Given the description of an element on the screen output the (x, y) to click on. 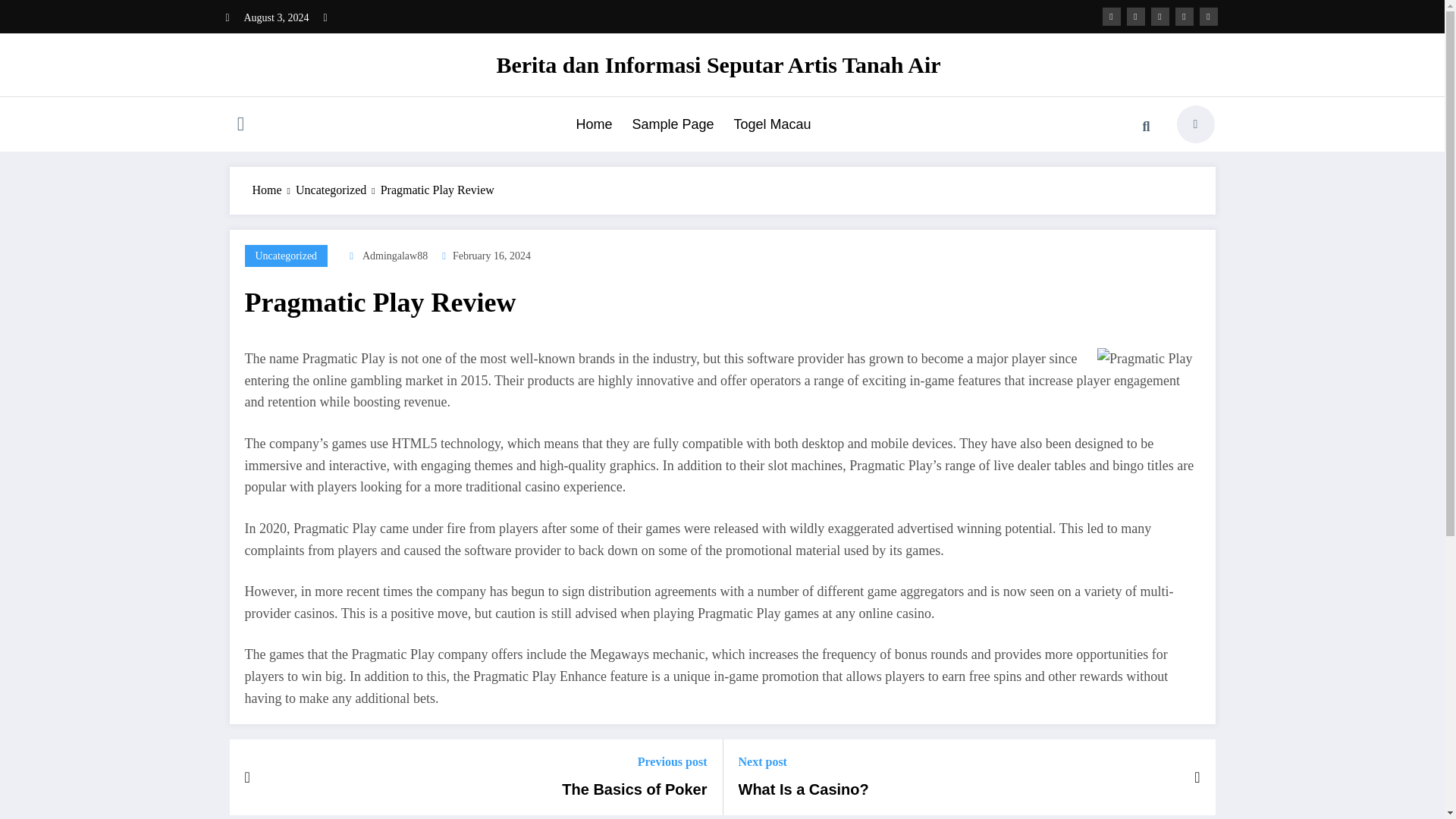
Home (593, 124)
Uncategorized (330, 189)
Uncategorized (285, 255)
dribbble (1160, 16)
Uncategorized (285, 255)
Posts by admingalaw88 (395, 255)
facebook-f (1111, 16)
fa-brands fa-x-twitter (1135, 16)
The Basics of Poker (634, 789)
What Is a Casino? (803, 789)
